Given the description of an element on the screen output the (x, y) to click on. 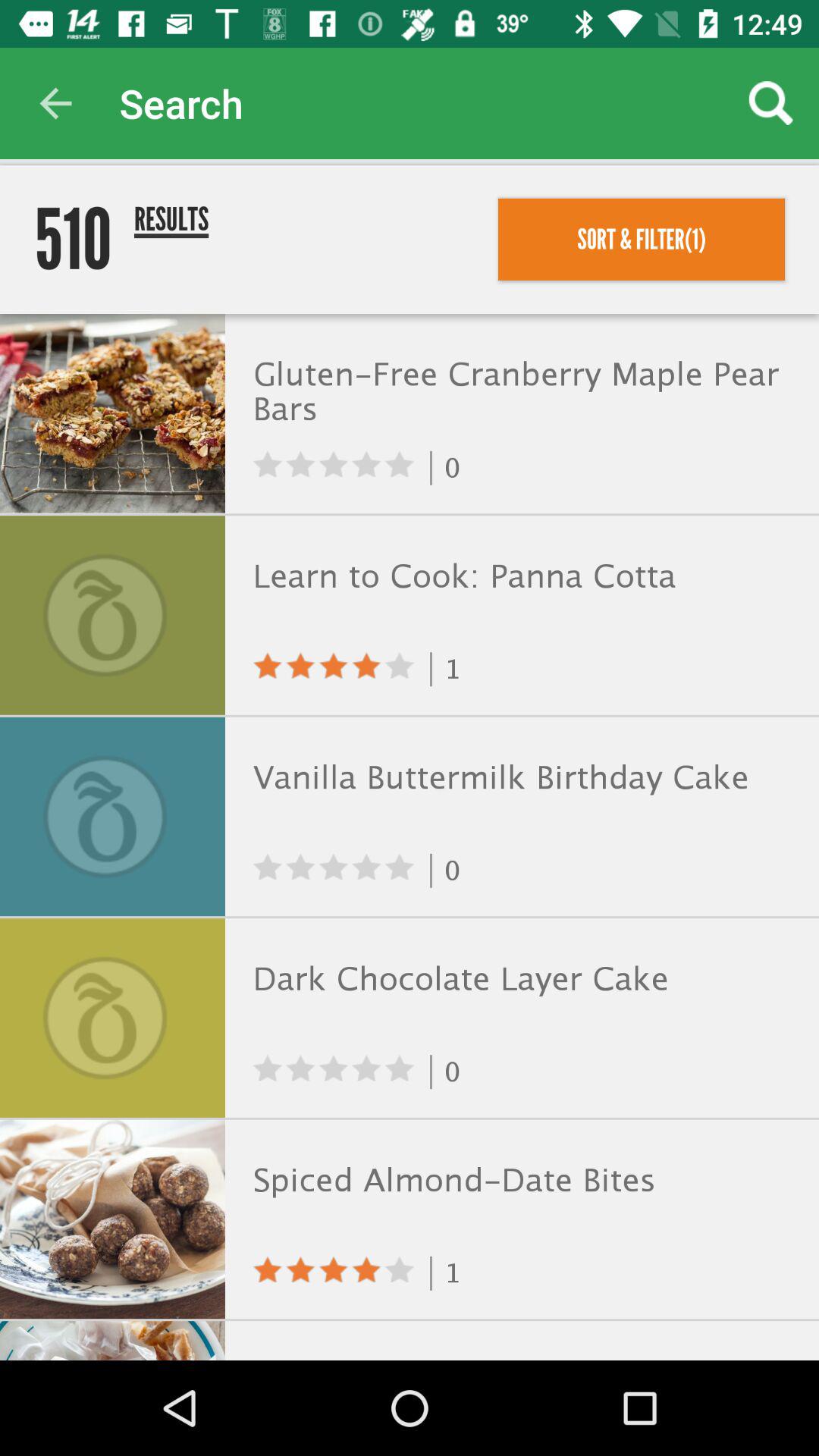
jump until vanilla buttermilk birthday icon (518, 778)
